Given the description of an element on the screen output the (x, y) to click on. 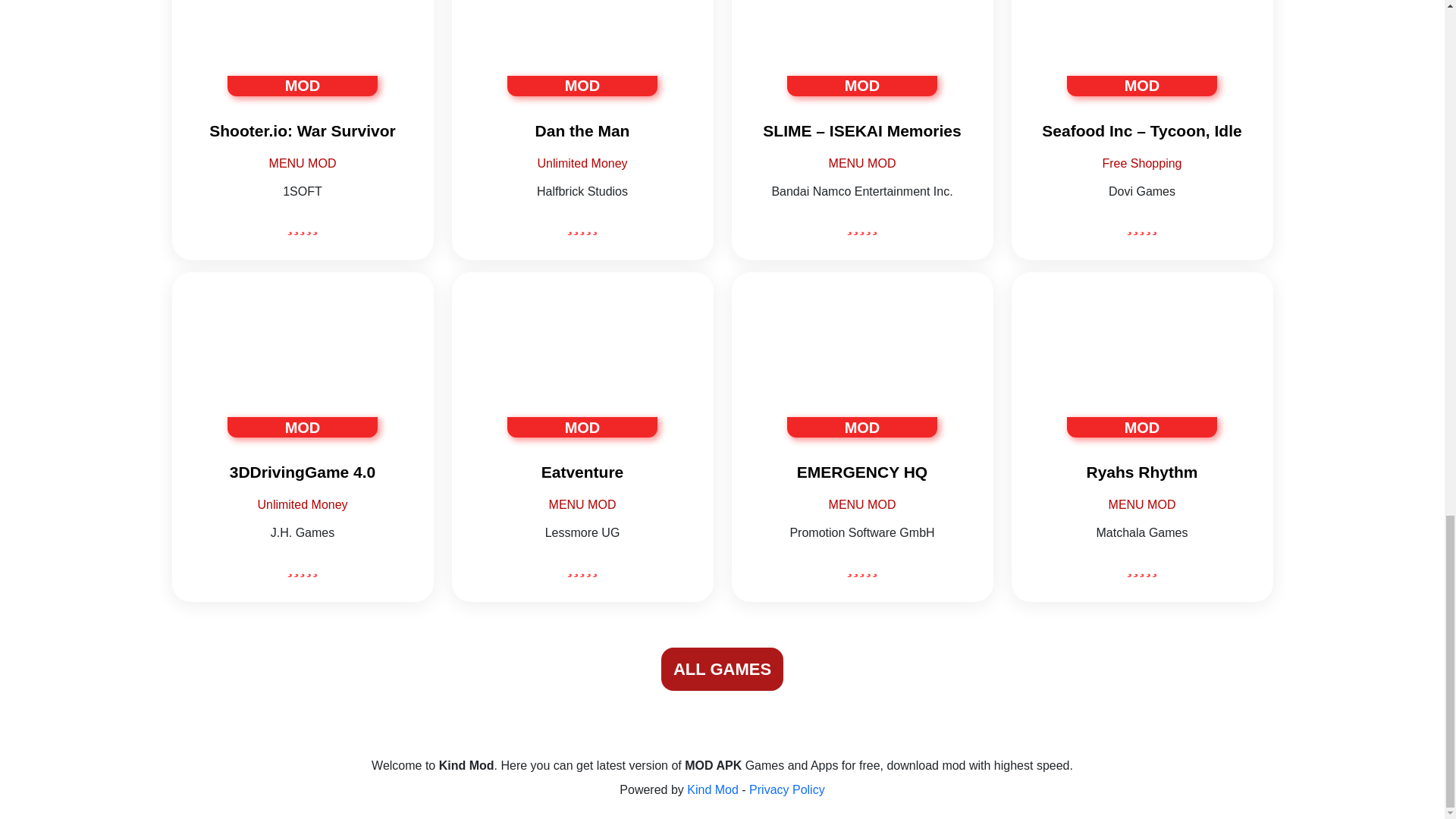
Dan the Man (582, 129)
Shooter.io: War Survivor (301, 129)
